Given the description of an element on the screen output the (x, y) to click on. 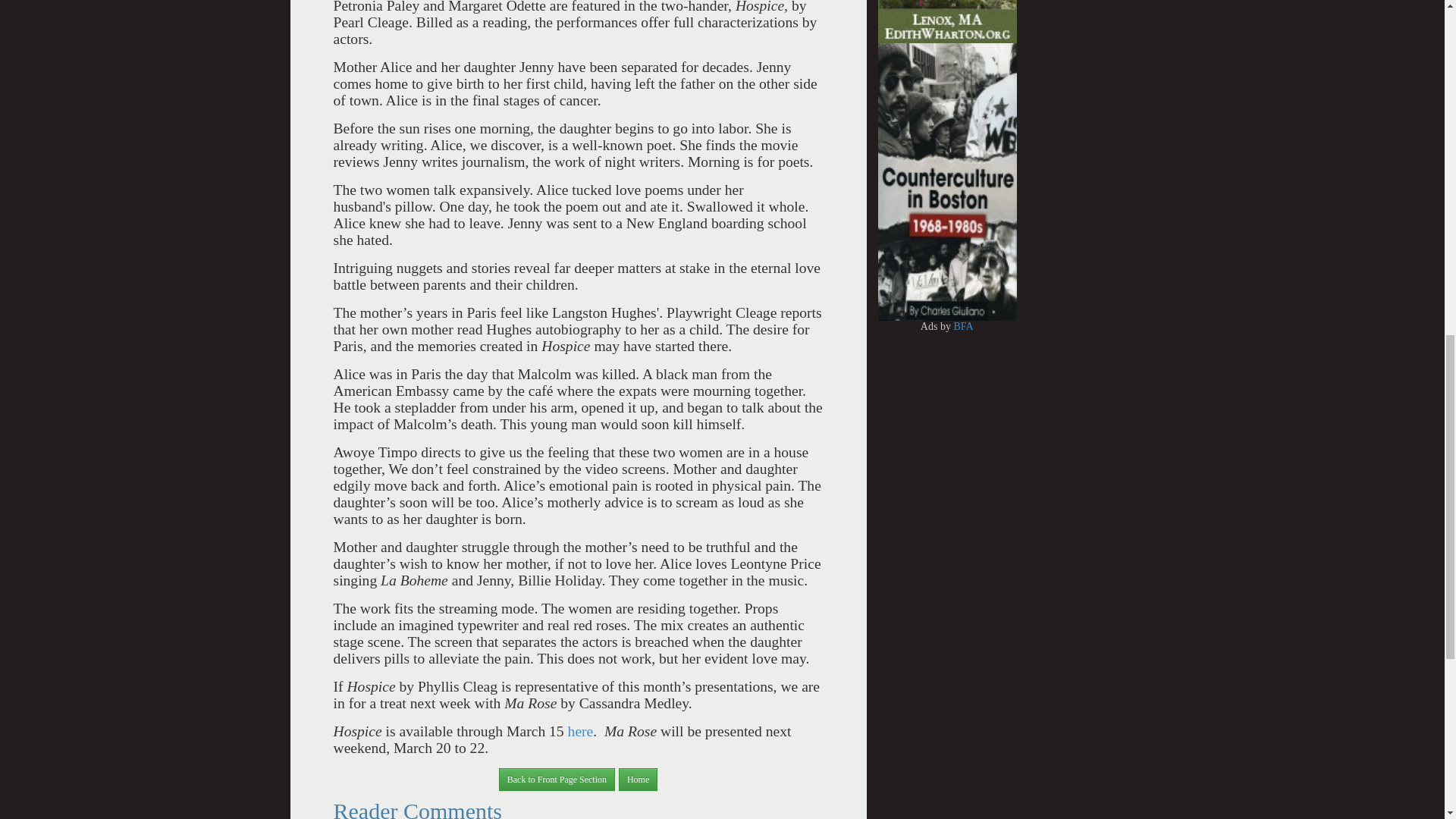
ad (799, 4)
ad (937, 4)
